Given the description of an element on the screen output the (x, y) to click on. 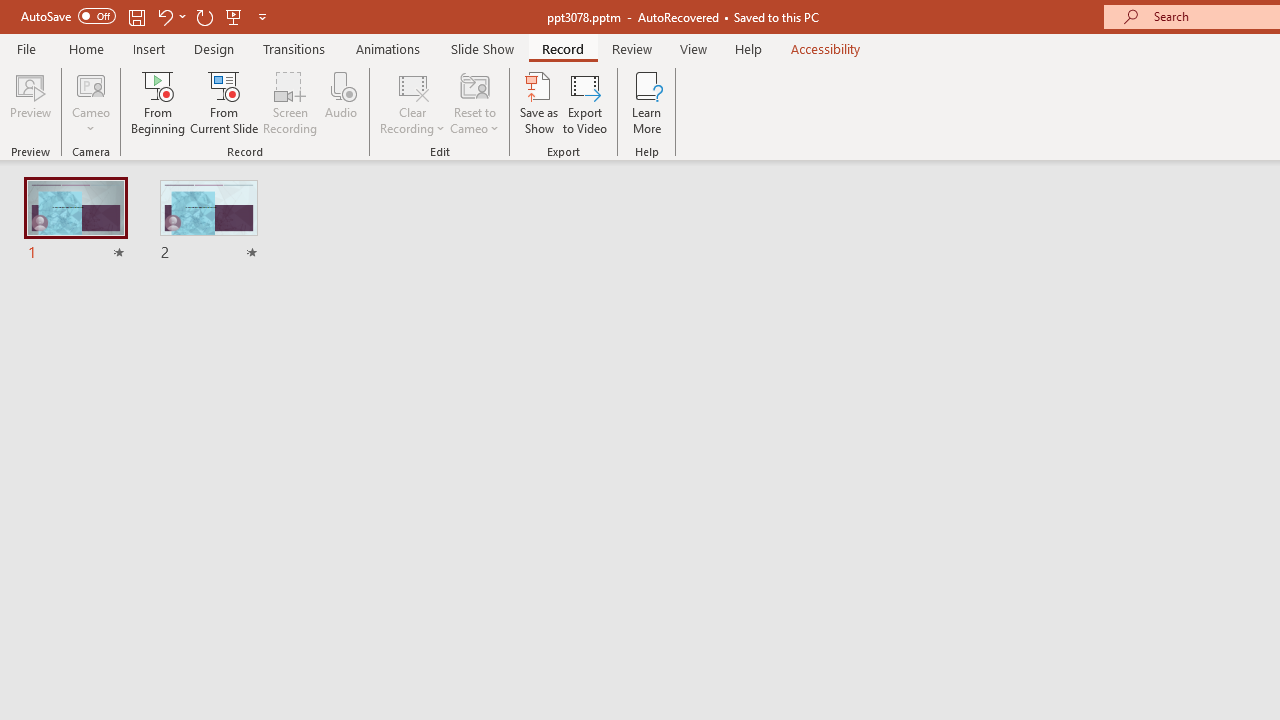
Learn More (646, 102)
Clear Recording (412, 102)
Save as Show (539, 102)
Audio (341, 102)
